Given the description of an element on the screen output the (x, y) to click on. 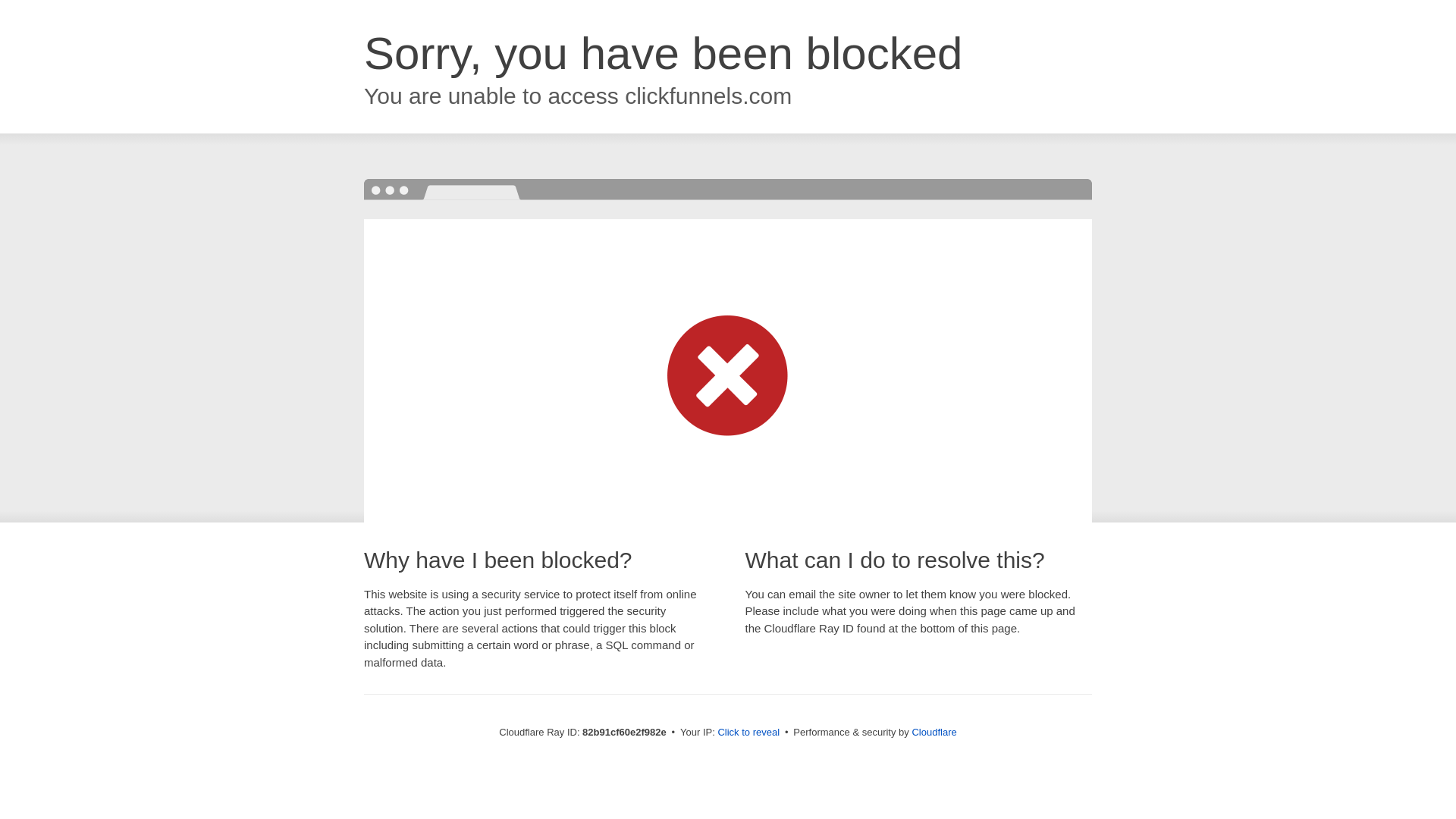
Click to reveal Element type: text (748, 732)
Cloudflare Element type: text (933, 731)
